Given the description of an element on the screen output the (x, y) to click on. 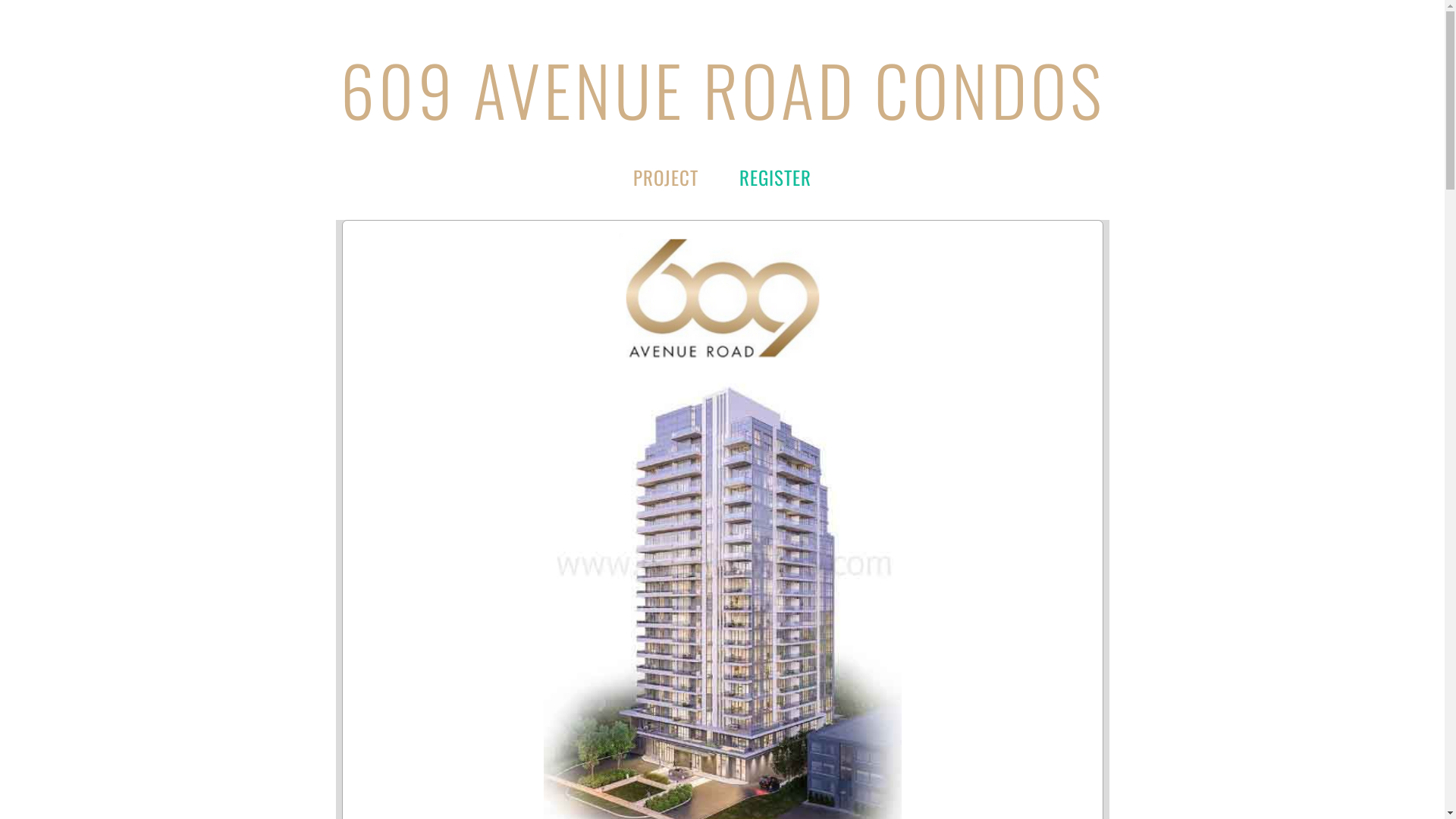
609 AVENUE ROAD CONDOS Element type: text (721, 88)
PROJECT Element type: text (665, 177)
REGISTER Element type: text (775, 177)
